Given the description of an element on the screen output the (x, y) to click on. 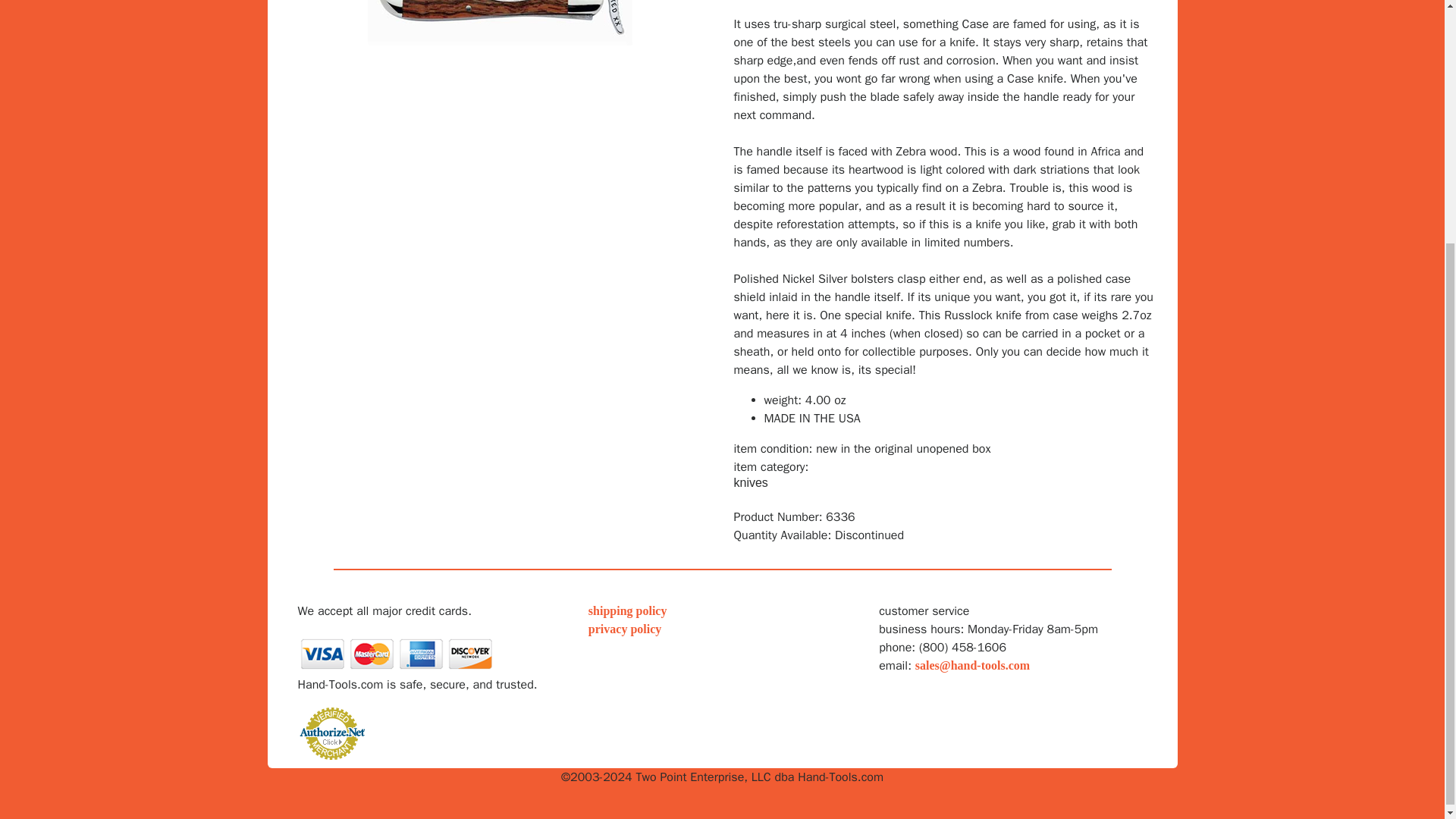
shipping policy (627, 610)
privacy policy (624, 628)
privacy policy (624, 628)
6336 Orange Curly Zebra Russlock Knife - Fantastic 6336 (500, 22)
shipping policy (627, 610)
